Given the description of an element on the screen output the (x, y) to click on. 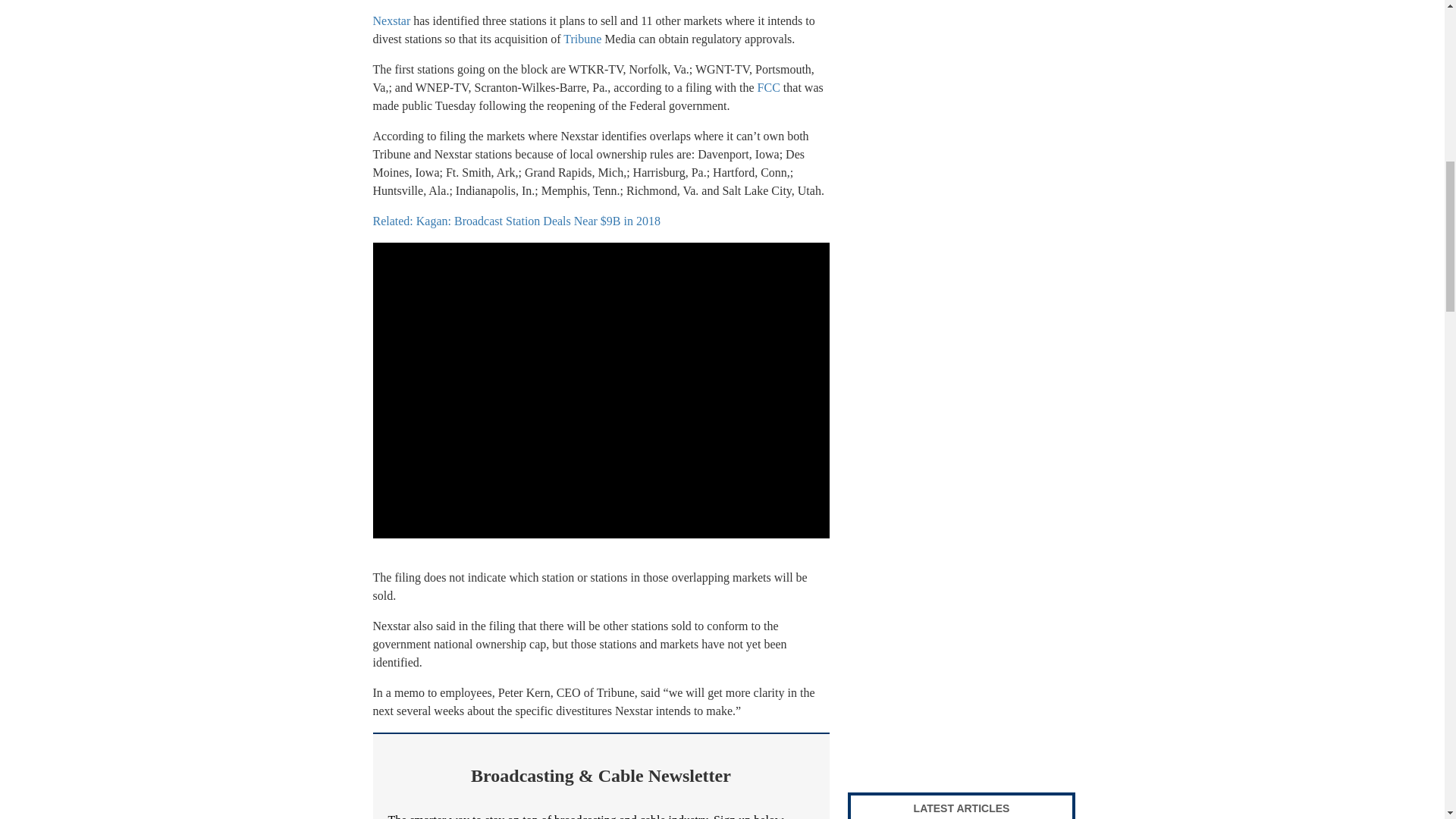
Tribune (582, 38)
Nexstar (391, 20)
FCC (768, 87)
